Given the description of an element on the screen output the (x, y) to click on. 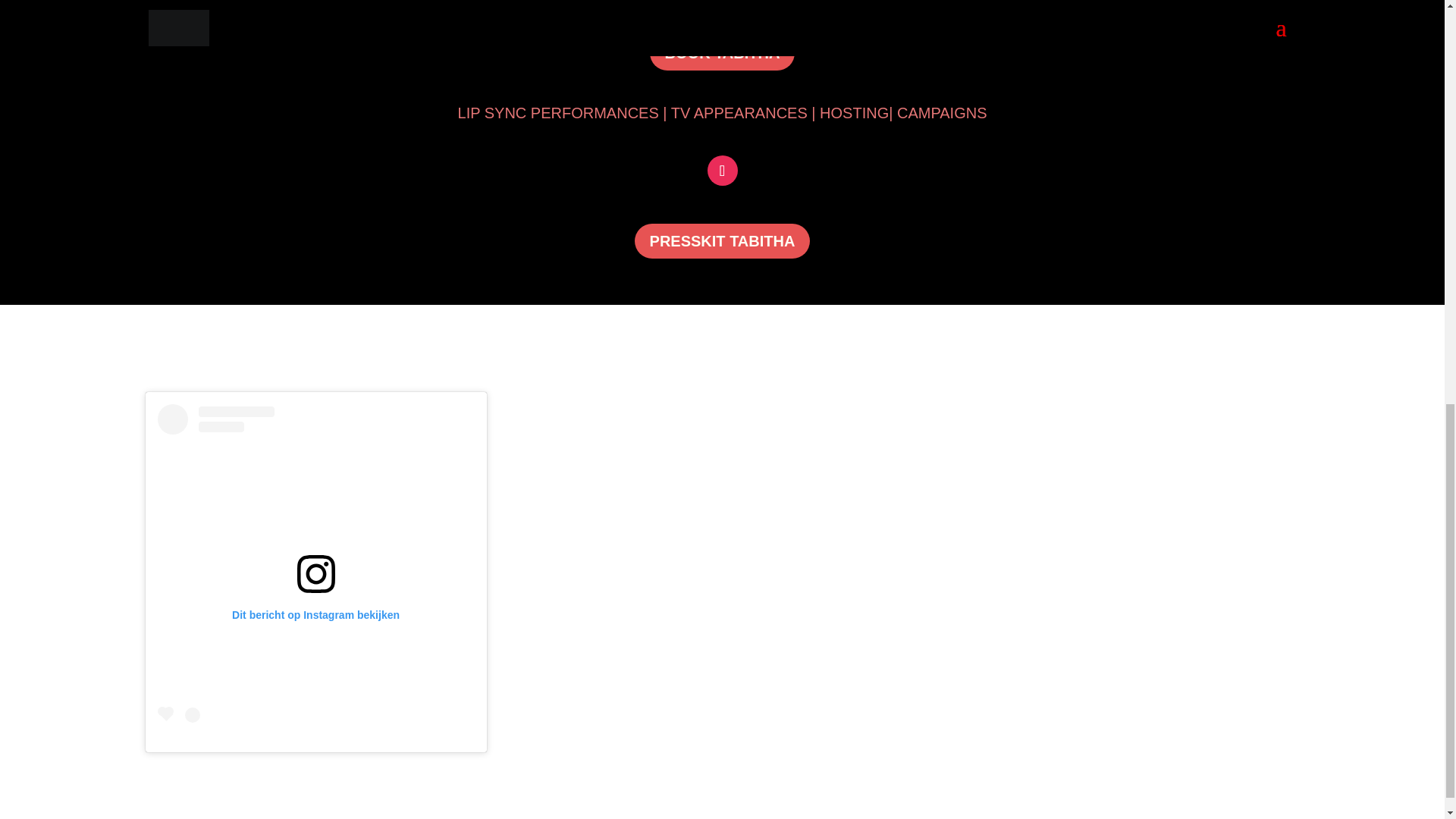
PRESSKIT TABITHA (722, 240)
BOOK TABITHA (721, 53)
Dit bericht op Instagram bekijken (315, 566)
Follow on Instagram (721, 170)
